Given the description of an element on the screen output the (x, y) to click on. 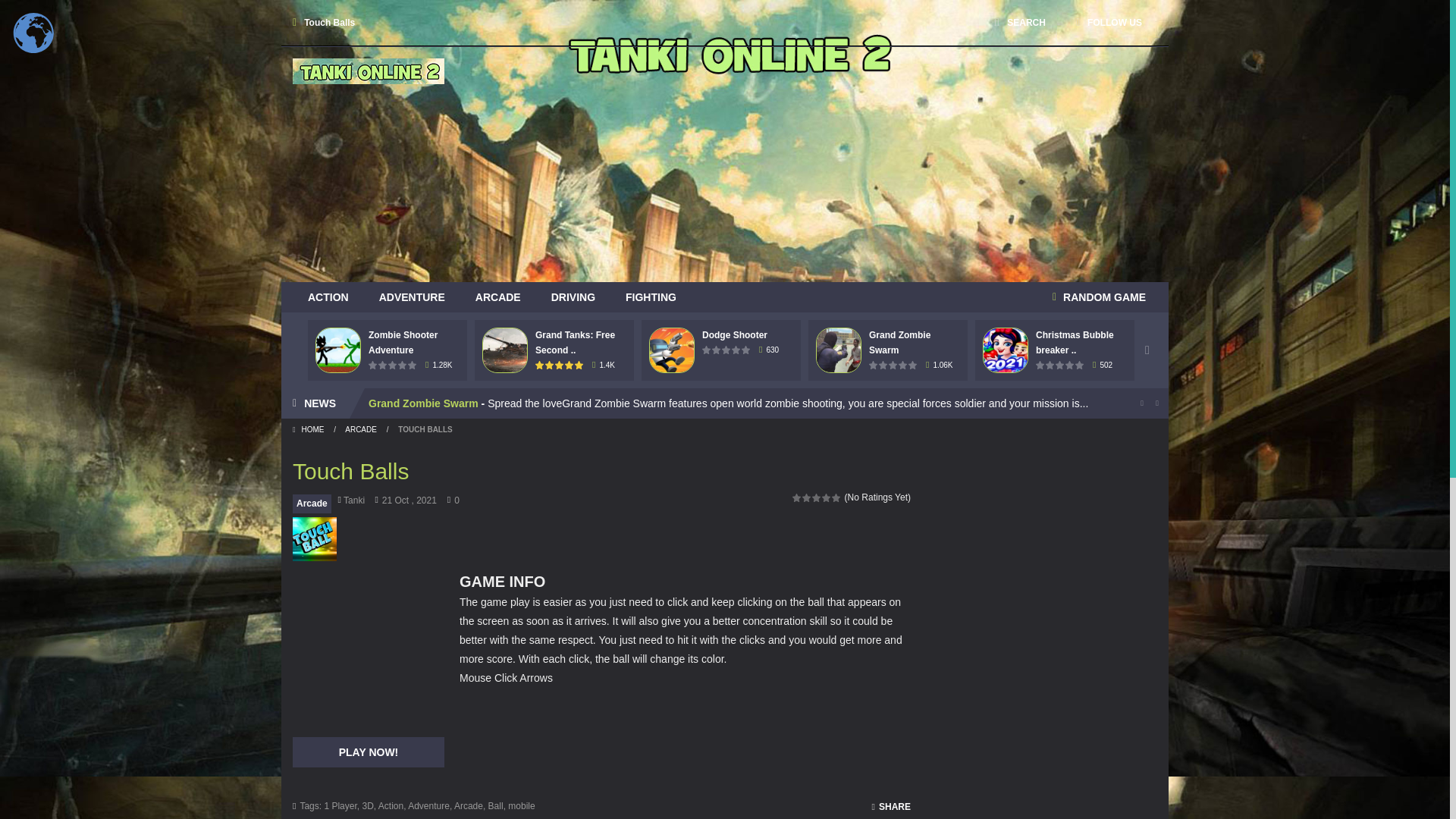
ACTION (328, 296)
0 votes, average: 0.00 out of 5 (383, 365)
RANDOM GAME (1099, 296)
ARCADE (497, 296)
0 votes, average: 0.00 out of 5 (392, 365)
Tanki Online 2 (368, 71)
Advertisement (881, 164)
1 vote, average: 5.00 out of 5 (559, 365)
1 vote, average: 5.00 out of 5 (539, 365)
Dodge Shooter (734, 335)
0 votes, average: 0.00 out of 5 (412, 365)
0 votes, average: 0.00 out of 5 (706, 349)
Grand Tanks: Free Second .. (574, 342)
FOLLOW US (1108, 22)
0 votes, average: 0.00 out of 5 (373, 365)
